Given the description of an element on the screen output the (x, y) to click on. 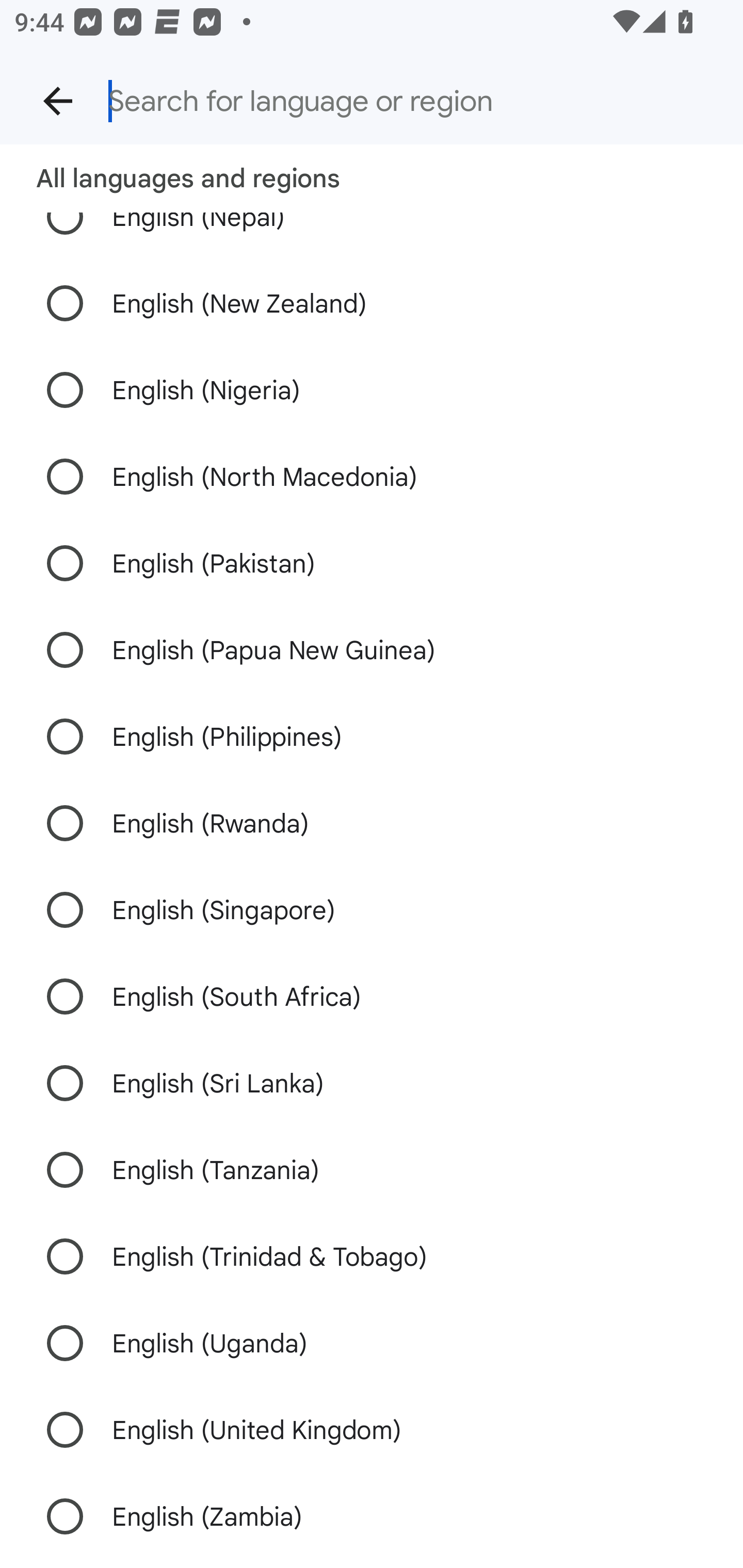
Navigate up (57, 100)
Search for language or region (407, 100)
English (New Zealand) (371, 303)
English (Nigeria) (371, 389)
English (North Macedonia) (371, 476)
English (Pakistan) (371, 563)
English (Papua New Guinea) (371, 649)
English (Philippines) (371, 736)
English (Rwanda) (371, 823)
English (Singapore) (371, 910)
English (South Africa) (371, 996)
English (Sri Lanka) (371, 1082)
English (Tanzania) (371, 1169)
English (Trinidad & Tobago) (371, 1256)
English (Uganda) (371, 1342)
English (United Kingdom) (371, 1429)
English (Zambia) (371, 1516)
